Given the description of an element on the screen output the (x, y) to click on. 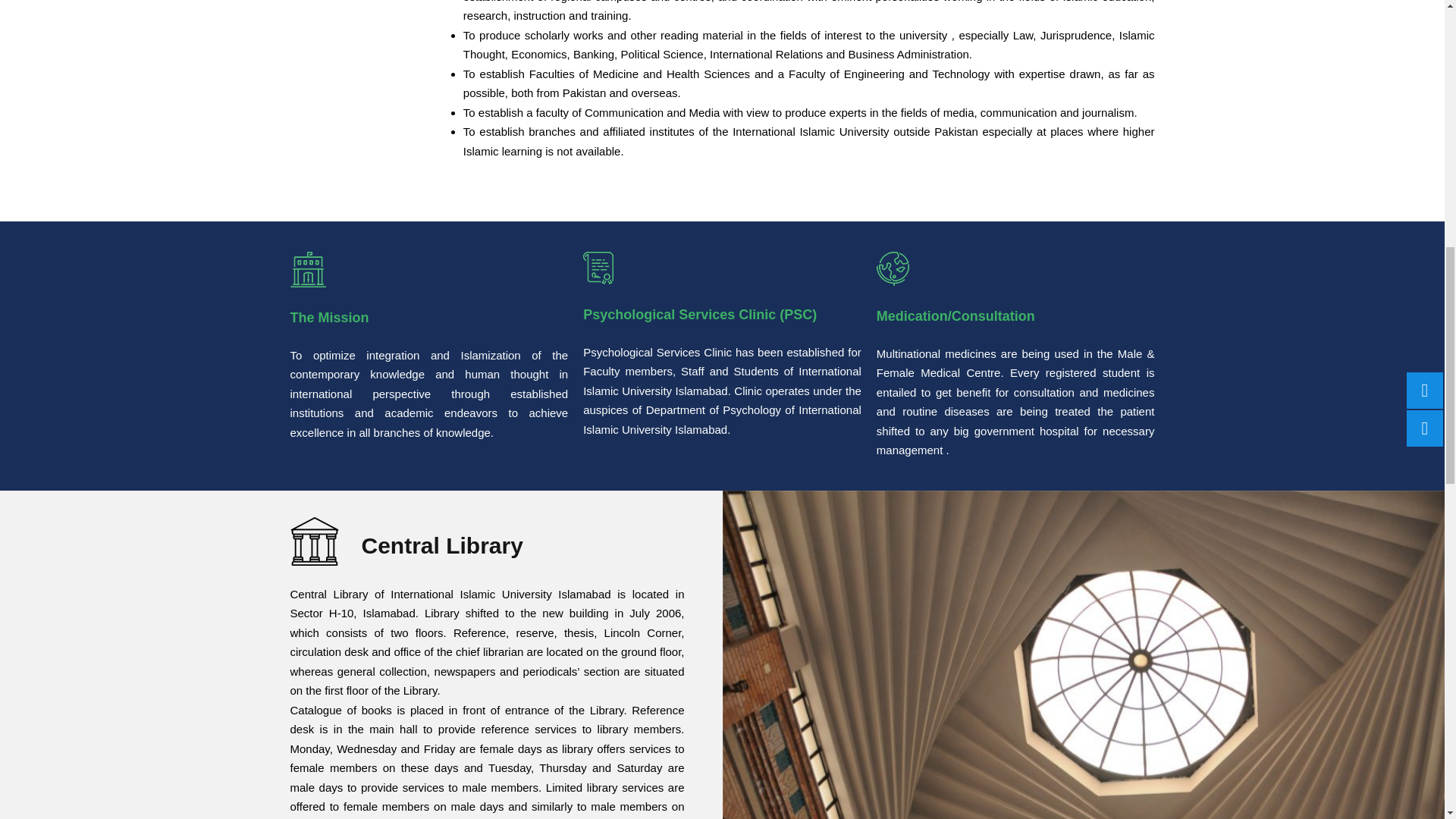
col-icon-2 (892, 268)
col-icon-4 (306, 269)
museum-1 (313, 540)
col-icon-3 (597, 267)
